Given the description of an element on the screen output the (x, y) to click on. 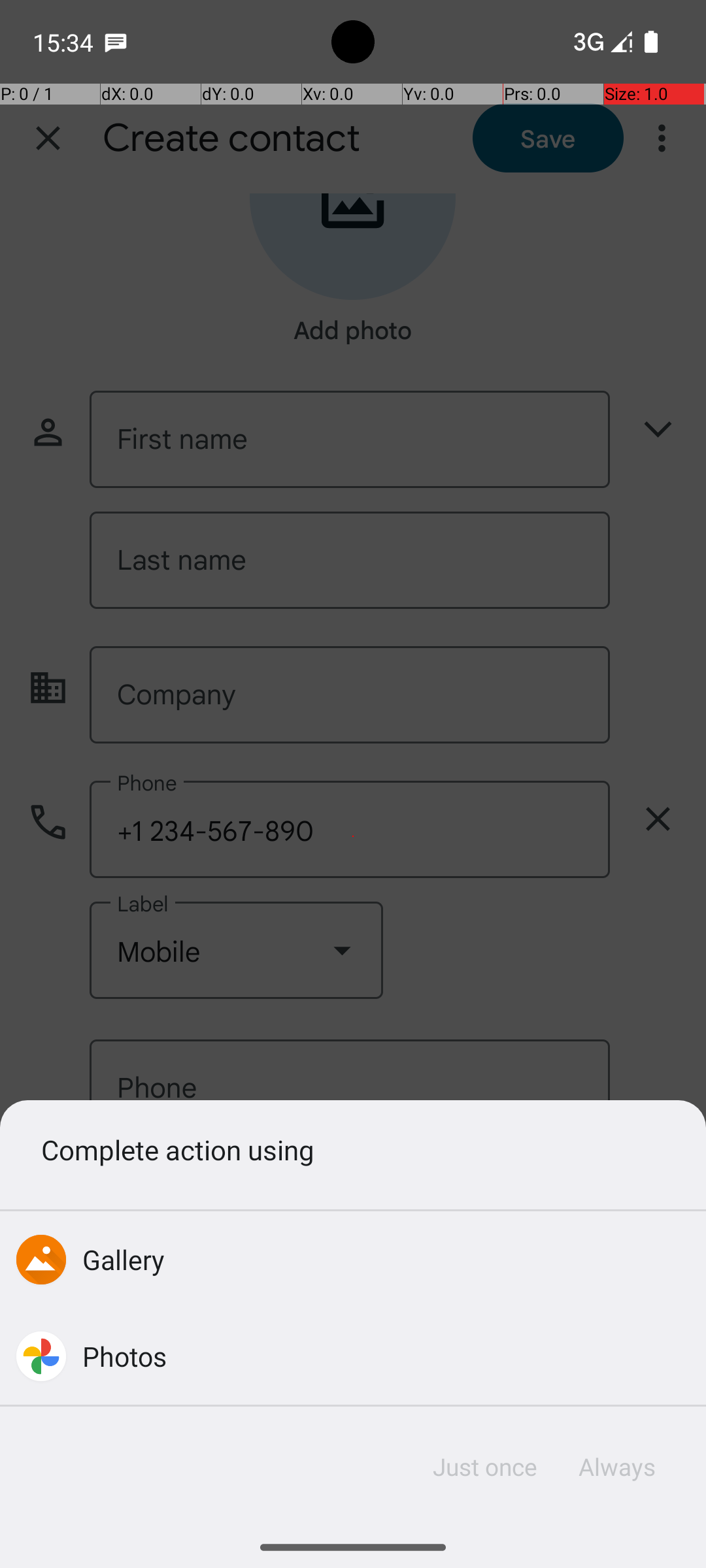
Complete action using Element type: android.widget.TextView (352, 1149)
Just once Element type: android.widget.Button (484, 1466)
Always Element type: android.widget.Button (616, 1466)
Gallery Element type: android.widget.TextView (123, 1258)
